Given the description of an element on the screen output the (x, y) to click on. 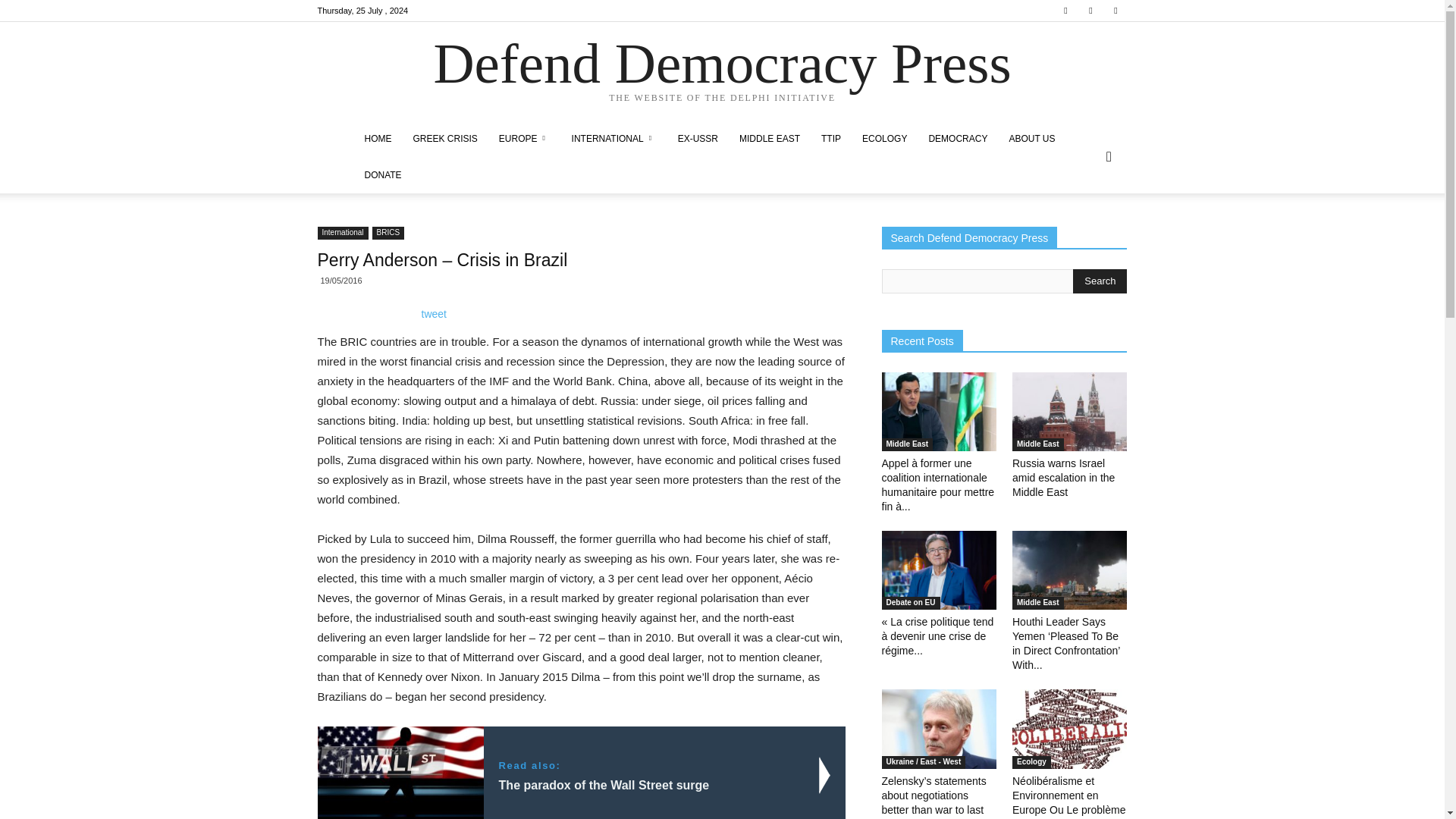
Youtube (1114, 10)
EUROPE (523, 138)
Facebook (1065, 10)
Twitter (1090, 10)
Search (1099, 281)
EX-USSR (697, 138)
GREEK CRISIS (444, 138)
INTERNATIONAL (613, 138)
Defend Democracy Press THE WEBSITE OF THE DELPHI INITIATIVE (721, 72)
HOME (377, 138)
